Given the description of an element on the screen output the (x, y) to click on. 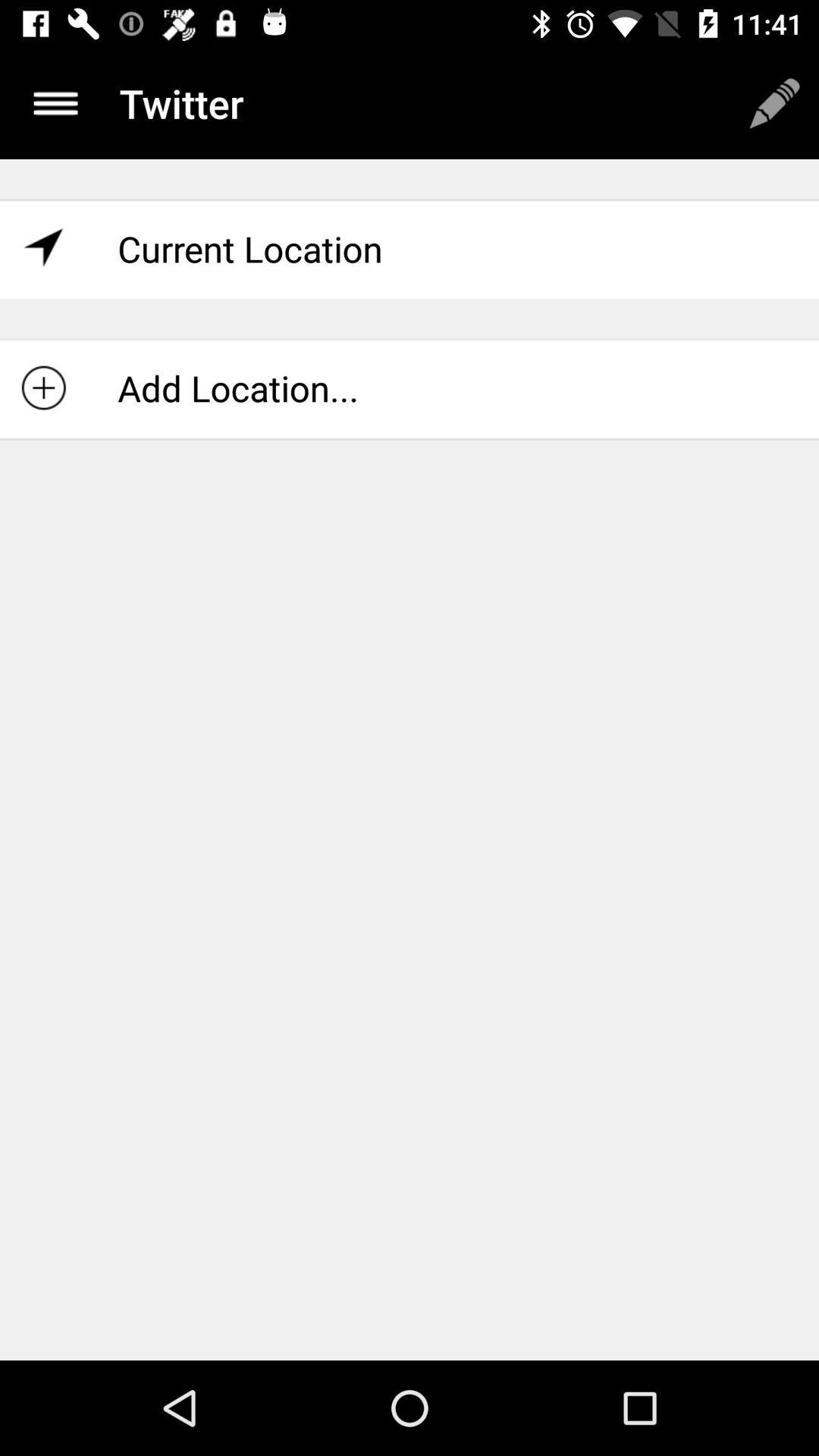
turn on the item next to twitter item (774, 103)
